Given the description of an element on the screen output the (x, y) to click on. 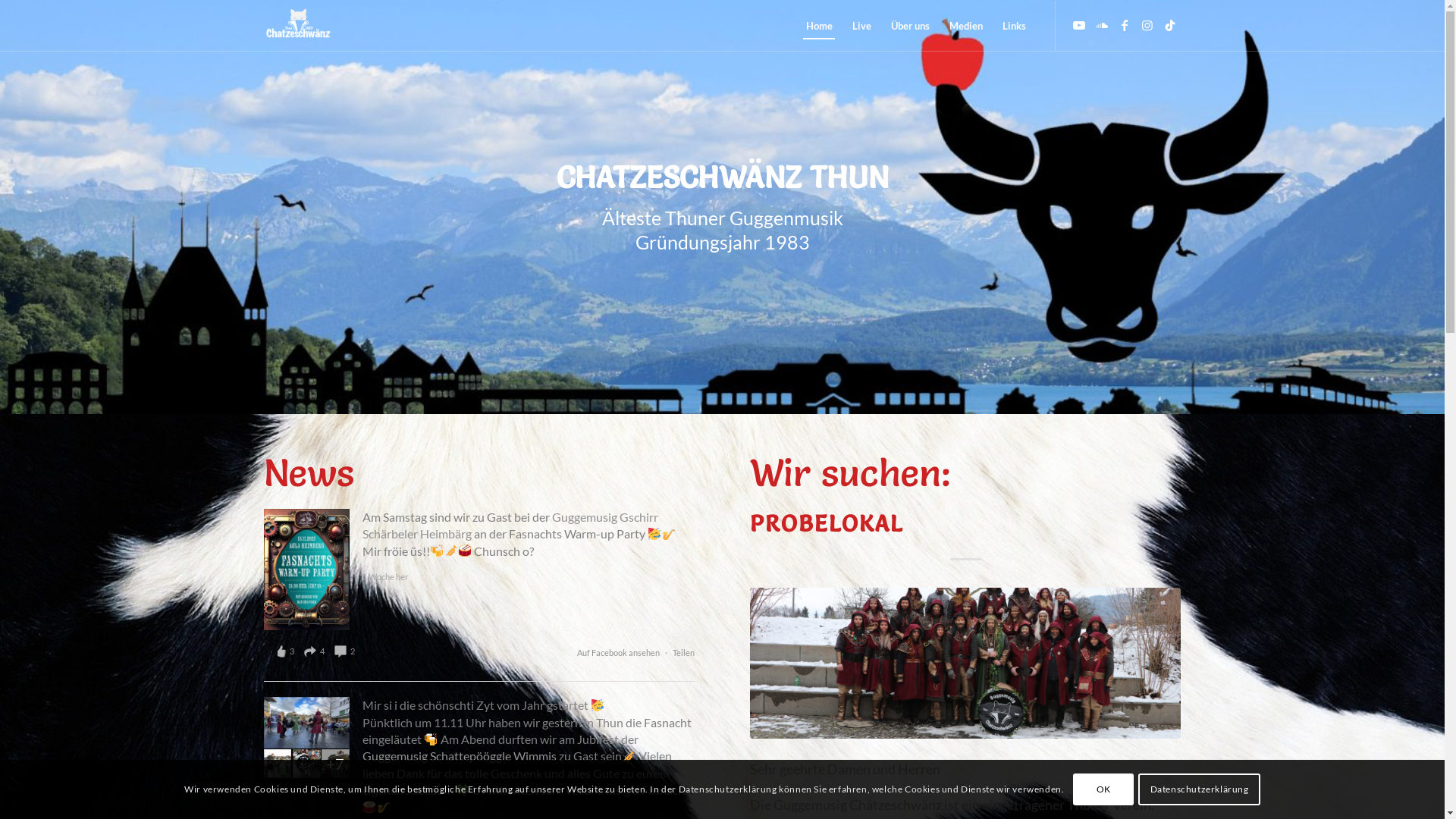
Home Element type: text (819, 25)
Facebook Element type: hover (1124, 24)
Instagram Element type: hover (1146, 24)
Auf Facebook ansehen Element type: text (619, 652)
Youtube Element type: hover (1078, 24)
Soundcloud Element type: hover (1101, 24)
Teilen Element type: text (683, 652)
Kommentare anzeigen
Likes:
3
Shares:
4
Kommentare:
2 Element type: text (314, 651)
Slide3-3 Element type: hover (722, 207)
Links Element type: text (1013, 25)
Gruppenbild Element type: hover (965, 662)
Live Element type: text (860, 25)
Medien Element type: text (964, 25)
TikTok Element type: hover (1169, 24)
OK Element type: text (1103, 789)
PROBELOKAL Element type: text (826, 523)
